Given the description of an element on the screen output the (x, y) to click on. 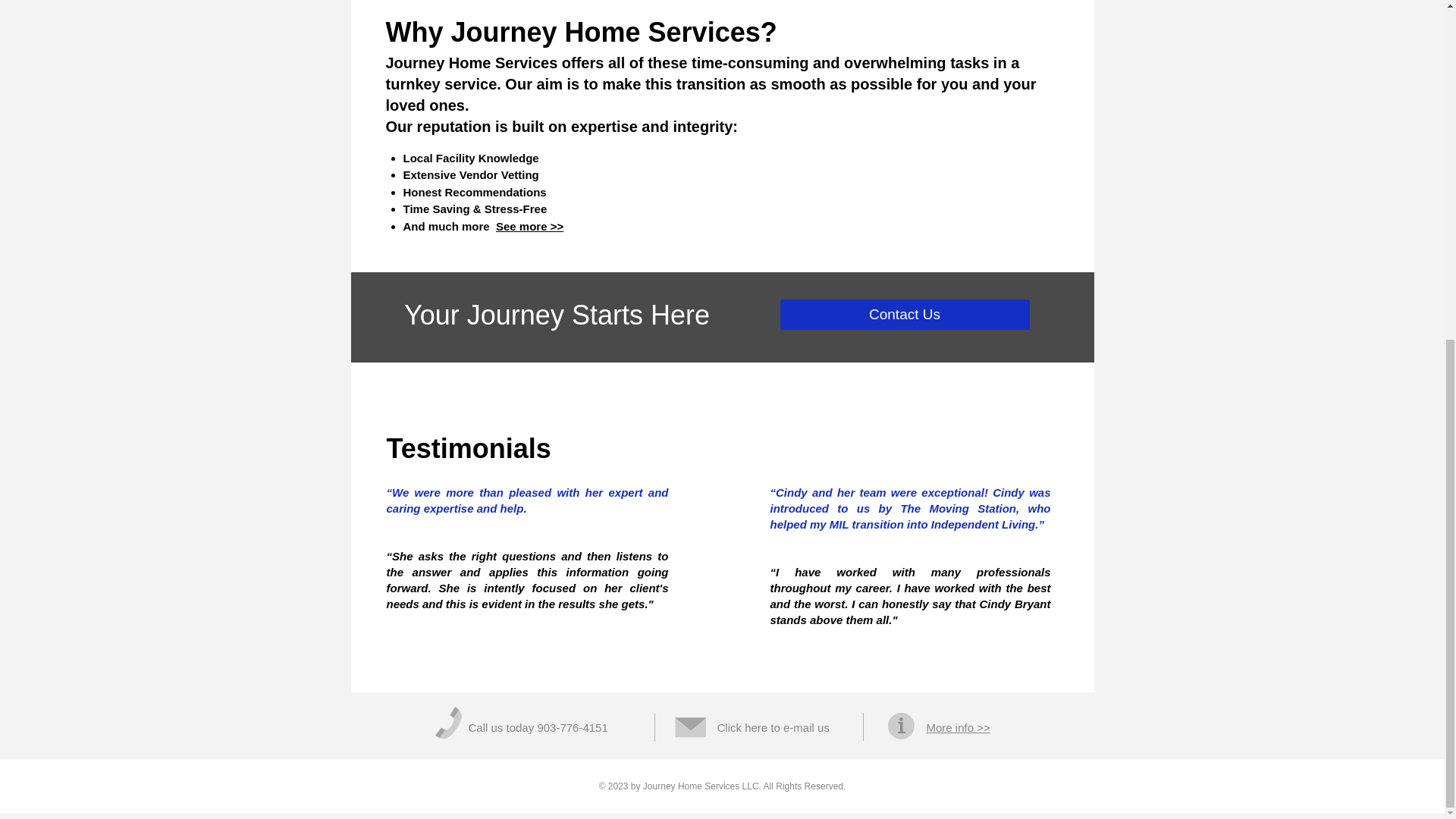
Call us today 903-776-4151 (538, 727)
Contact Us (903, 314)
Click here to e-mail us (773, 727)
